Given the description of an element on the screen output the (x, y) to click on. 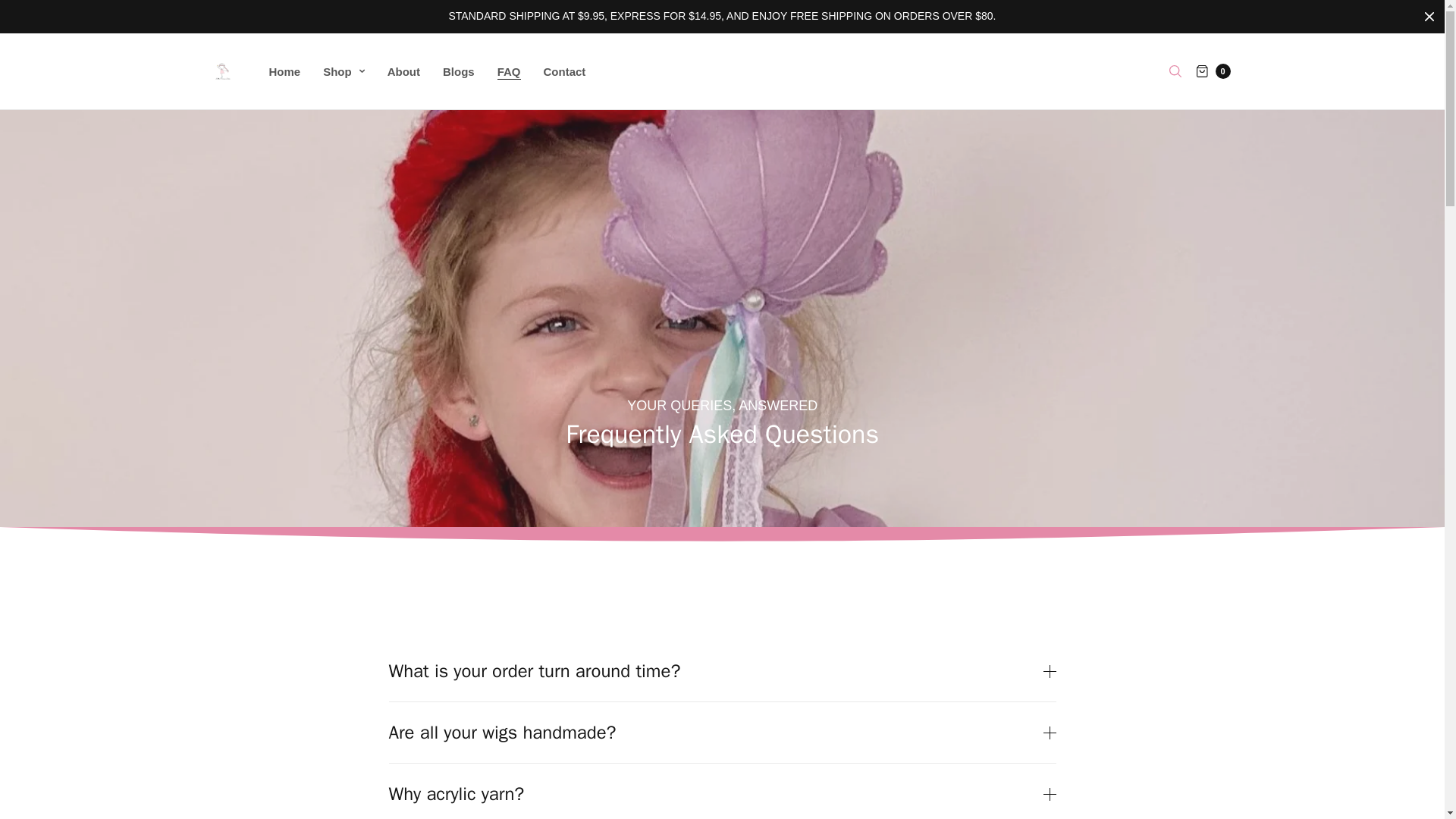
About (403, 71)
Shop (344, 71)
About (403, 71)
Contact (564, 71)
Contact (564, 71)
Blogs (458, 71)
Home (283, 71)
Blogs (458, 71)
Home (283, 71)
Shop (344, 71)
